Given the description of an element on the screen output the (x, y) to click on. 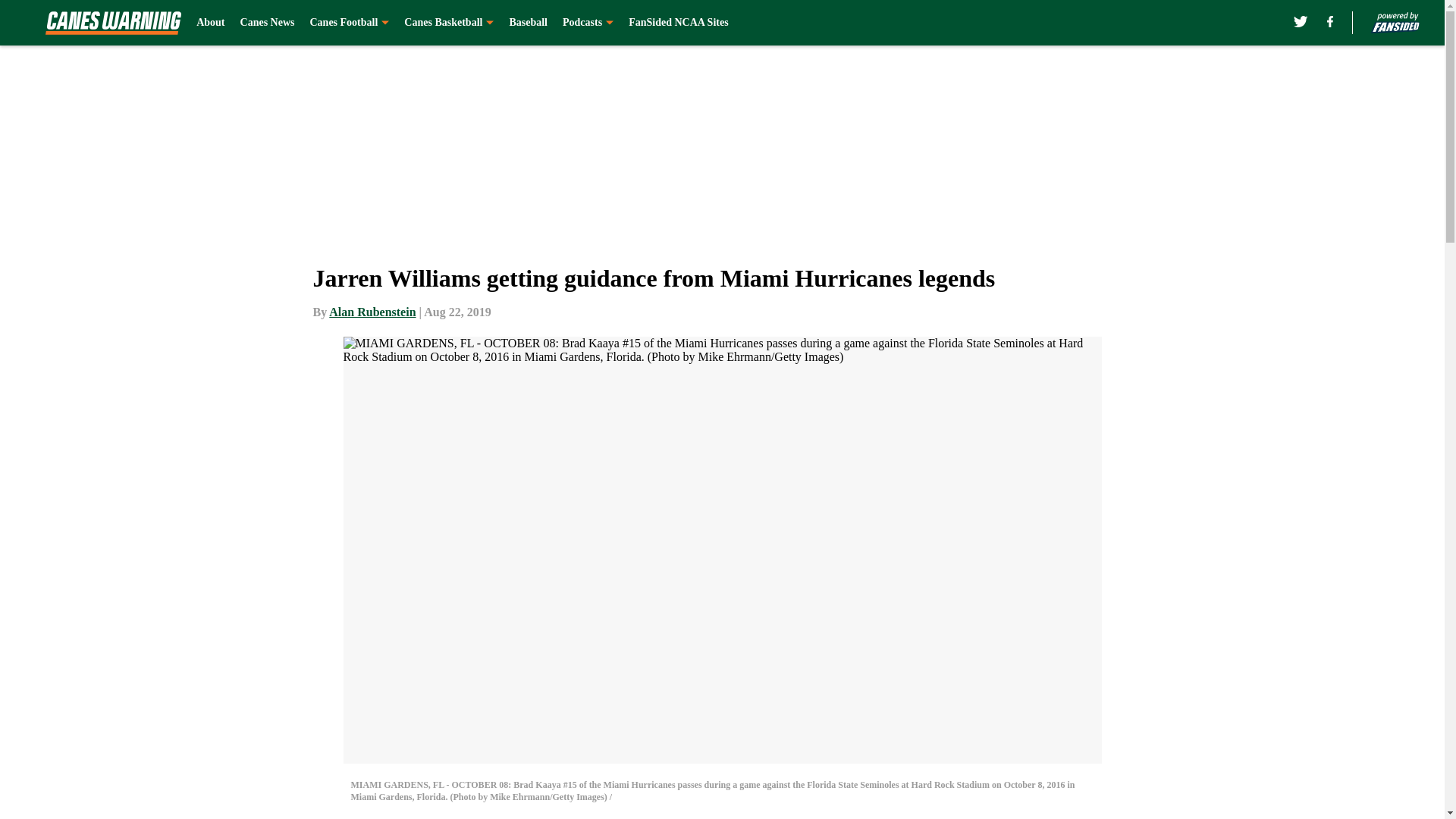
Alan Rubenstein (371, 311)
Canes News (267, 22)
FanSided NCAA Sites (678, 22)
About (210, 22)
Baseball (527, 22)
